Given the description of an element on the screen output the (x, y) to click on. 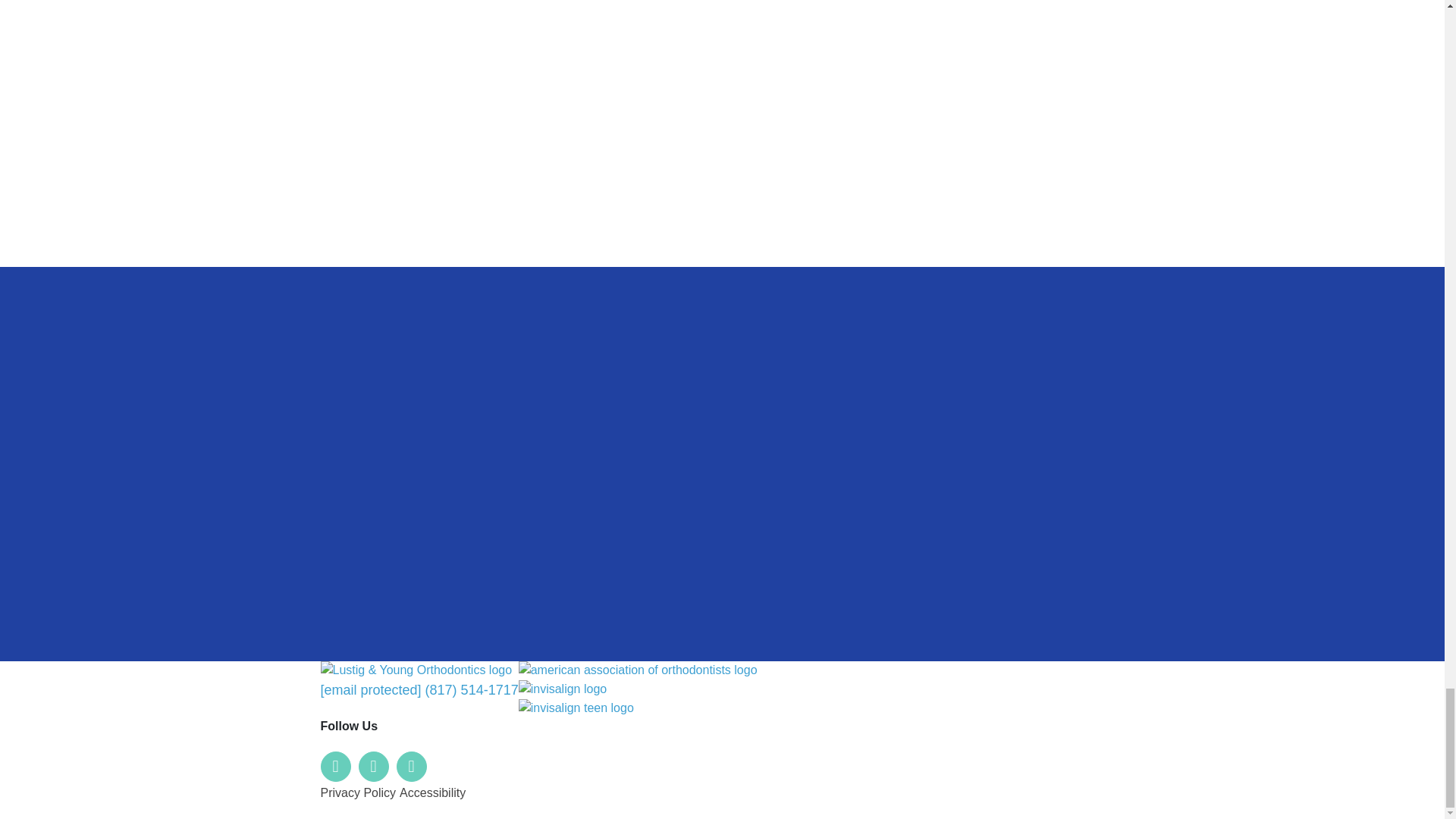
Instagram (411, 766)
American Association of Orthodontists (637, 669)
Invisalign Teen (575, 707)
Facebook (335, 766)
YouTube (373, 766)
Invisalign (562, 687)
